Given the description of an element on the screen output the (x, y) to click on. 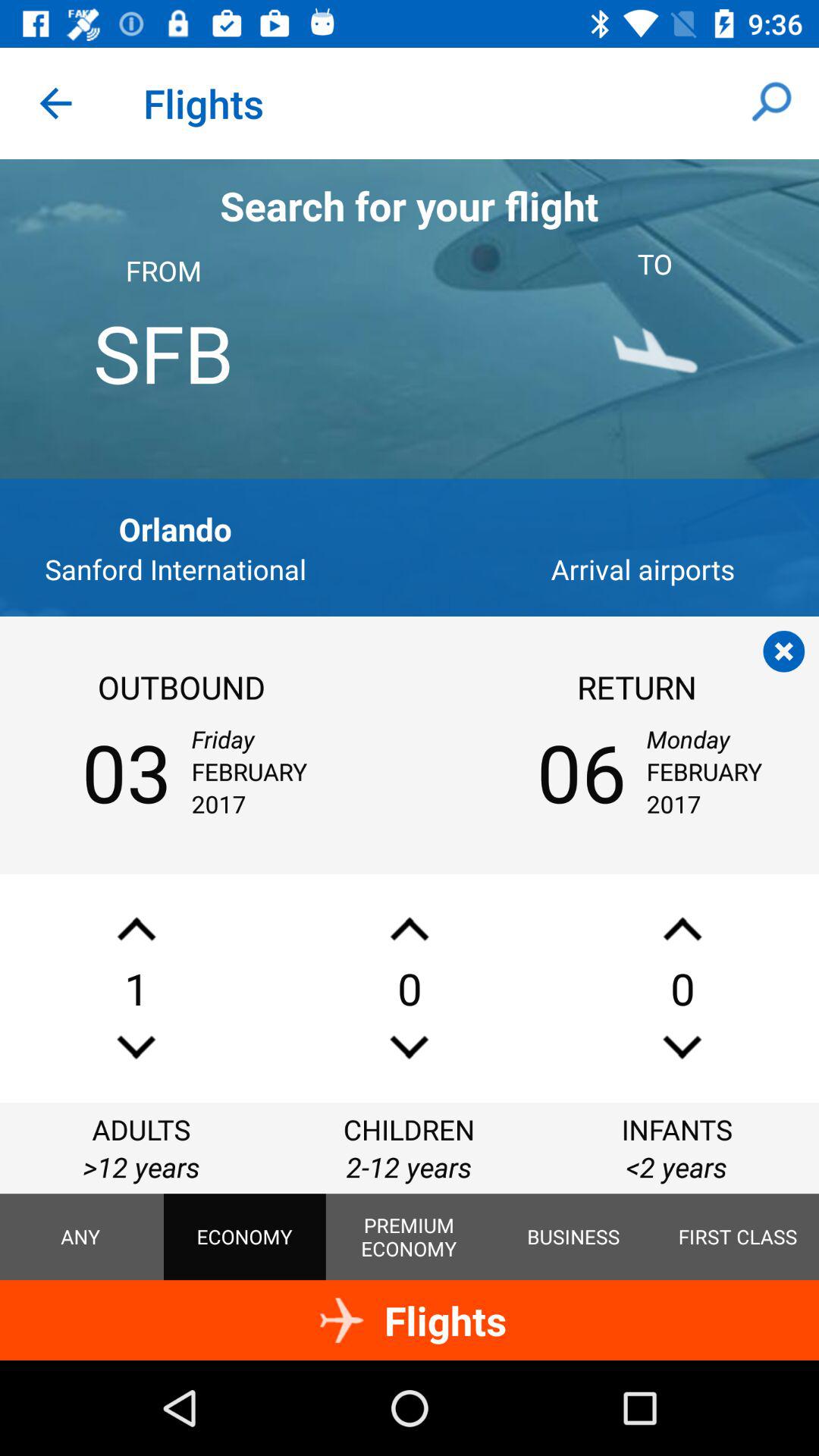
press the item below the 2-12 years item (573, 1236)
